Given the description of an element on the screen output the (x, y) to click on. 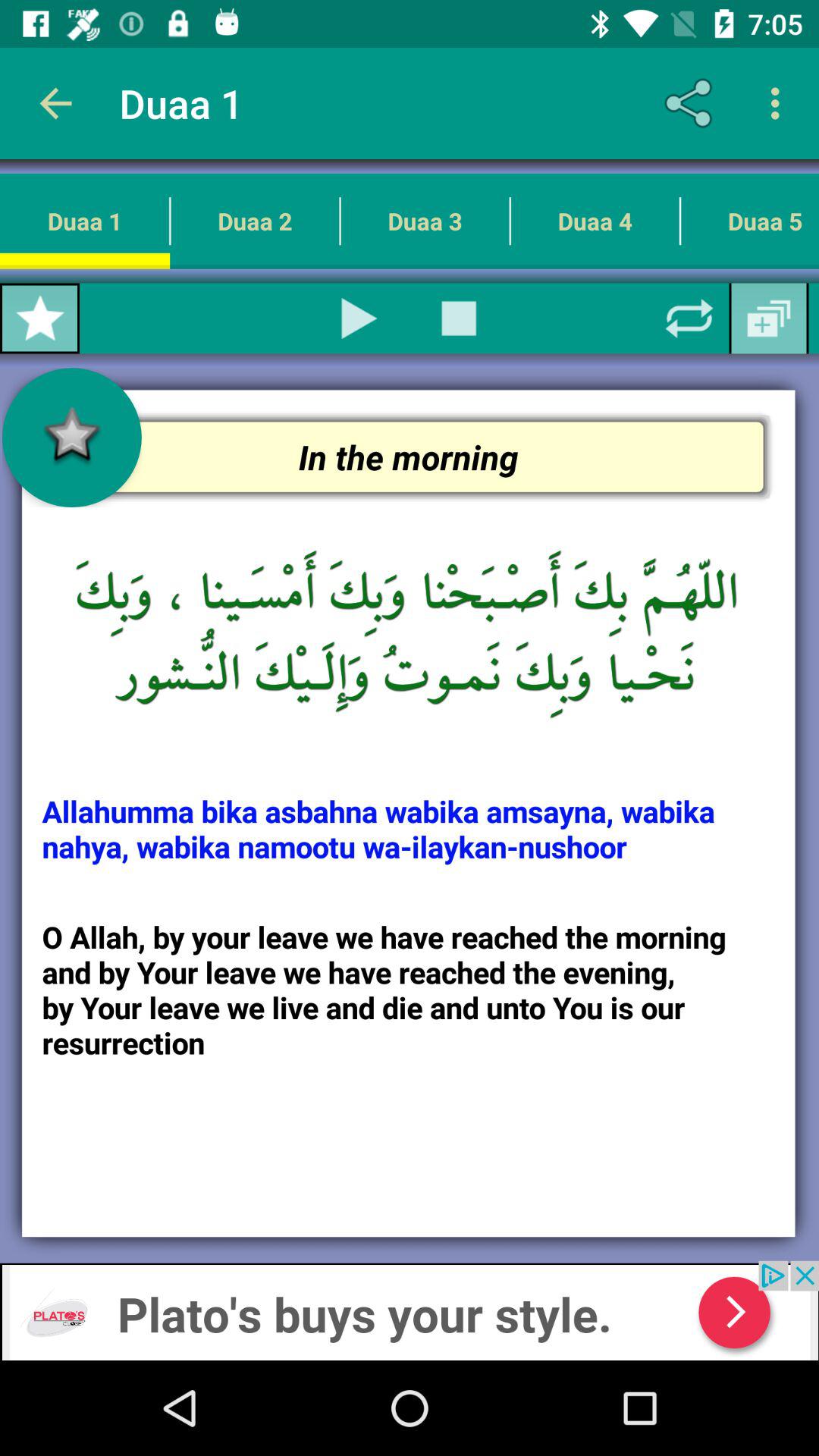
play audio (359, 318)
